Given the description of an element on the screen output the (x, y) to click on. 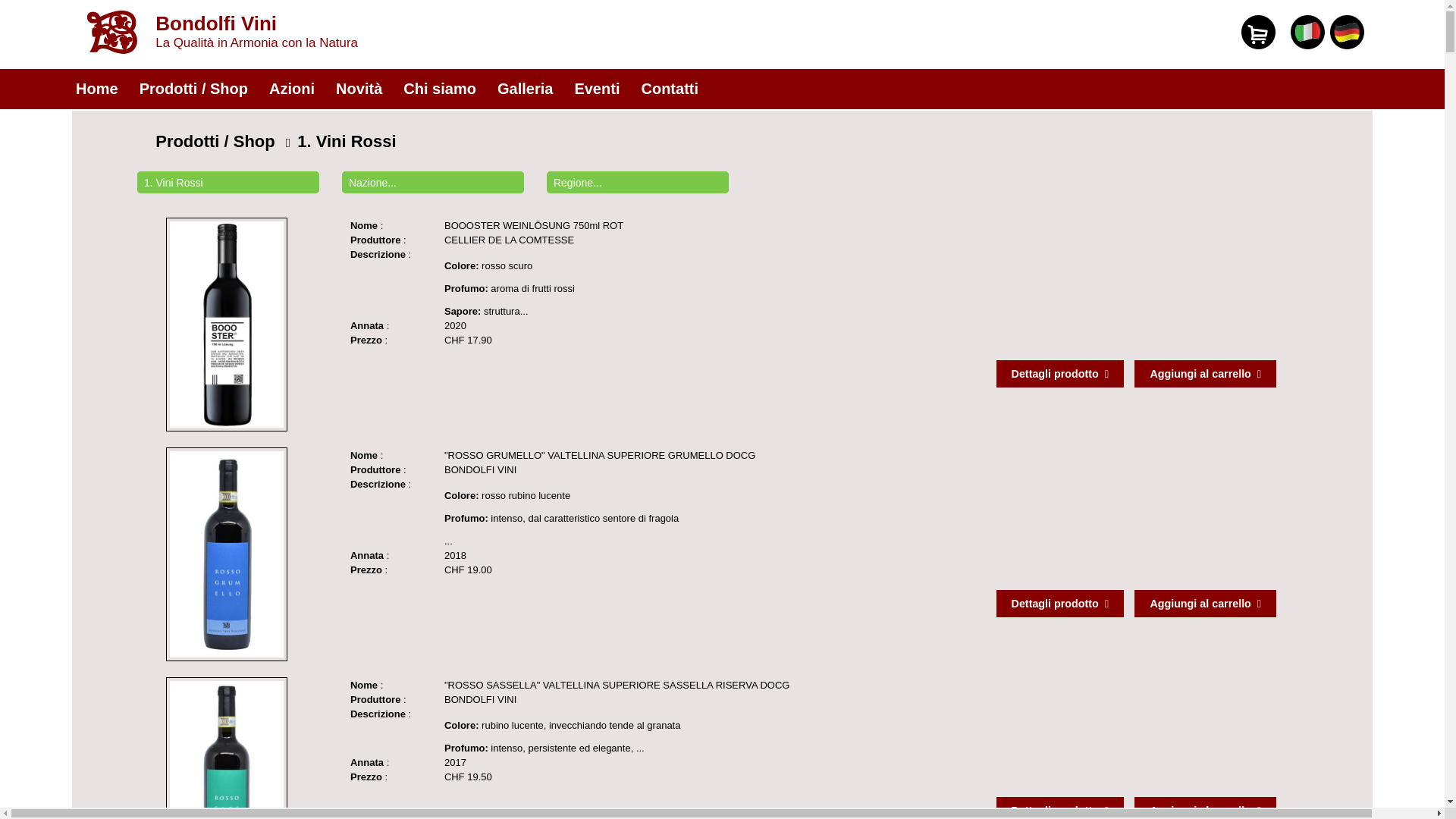
Contatti Element type: text (669, 87)
Italiano Element type: hover (1307, 45)
Carrello vuoto Element type: hover (1258, 32)
1. Vini Rossi Element type: text (346, 140)
Galleria Element type: text (524, 87)
Chi siamo Element type: text (439, 87)
Eventi Element type: text (596, 87)
  Element type: text (1370, 5)
  Element type: text (752, 200)
Prodotti / Shop Element type: text (214, 140)
Home Element type: text (96, 87)
Azioni Element type: text (291, 87)
Deutsch Element type: hover (1347, 45)
Prodotti / Shop Element type: text (193, 87)
